Given the description of an element on the screen output the (x, y) to click on. 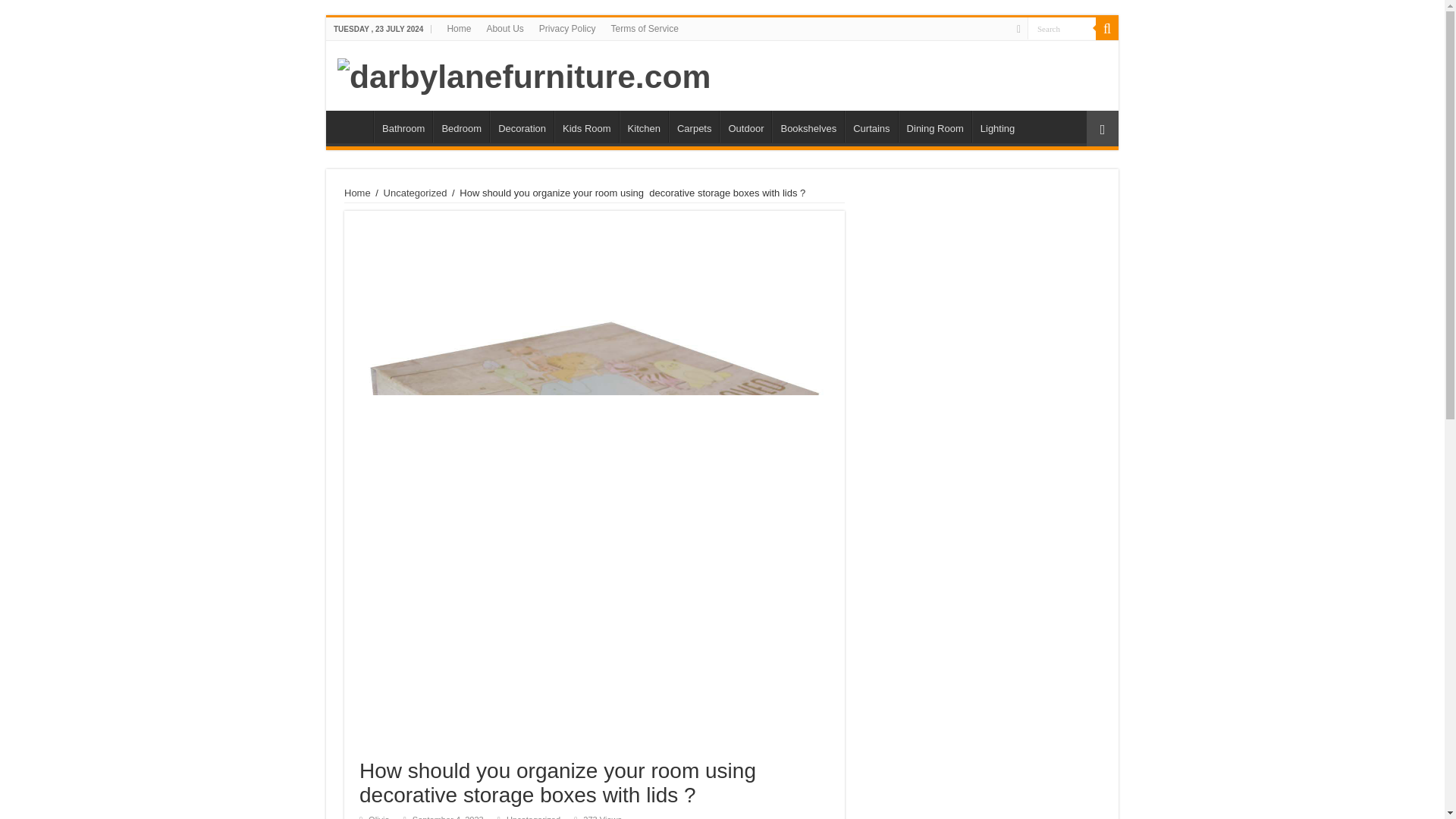
Uncategorized (533, 816)
Privacy Policy (567, 28)
Kids Room (586, 126)
Uncategorized (415, 193)
Lighting (997, 126)
Carpets (693, 126)
Decoration (521, 126)
Dining Room (934, 126)
Search (1107, 28)
Home (459, 28)
Random Article (1102, 128)
Outdoor (745, 126)
Home (357, 193)
Kitchen (644, 126)
